Given the description of an element on the screen output the (x, y) to click on. 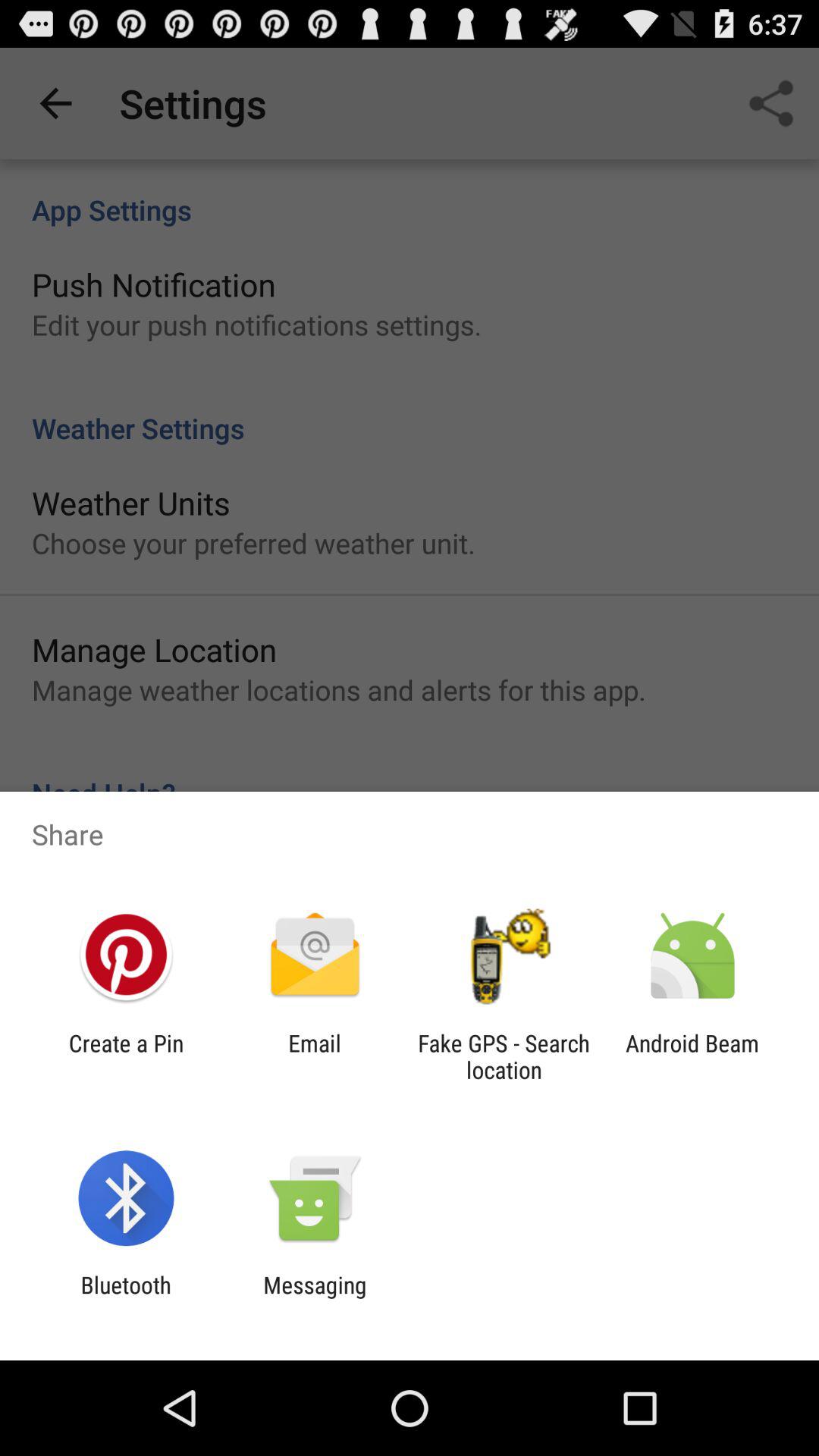
click bluetooth item (125, 1298)
